Given the description of an element on the screen output the (x, y) to click on. 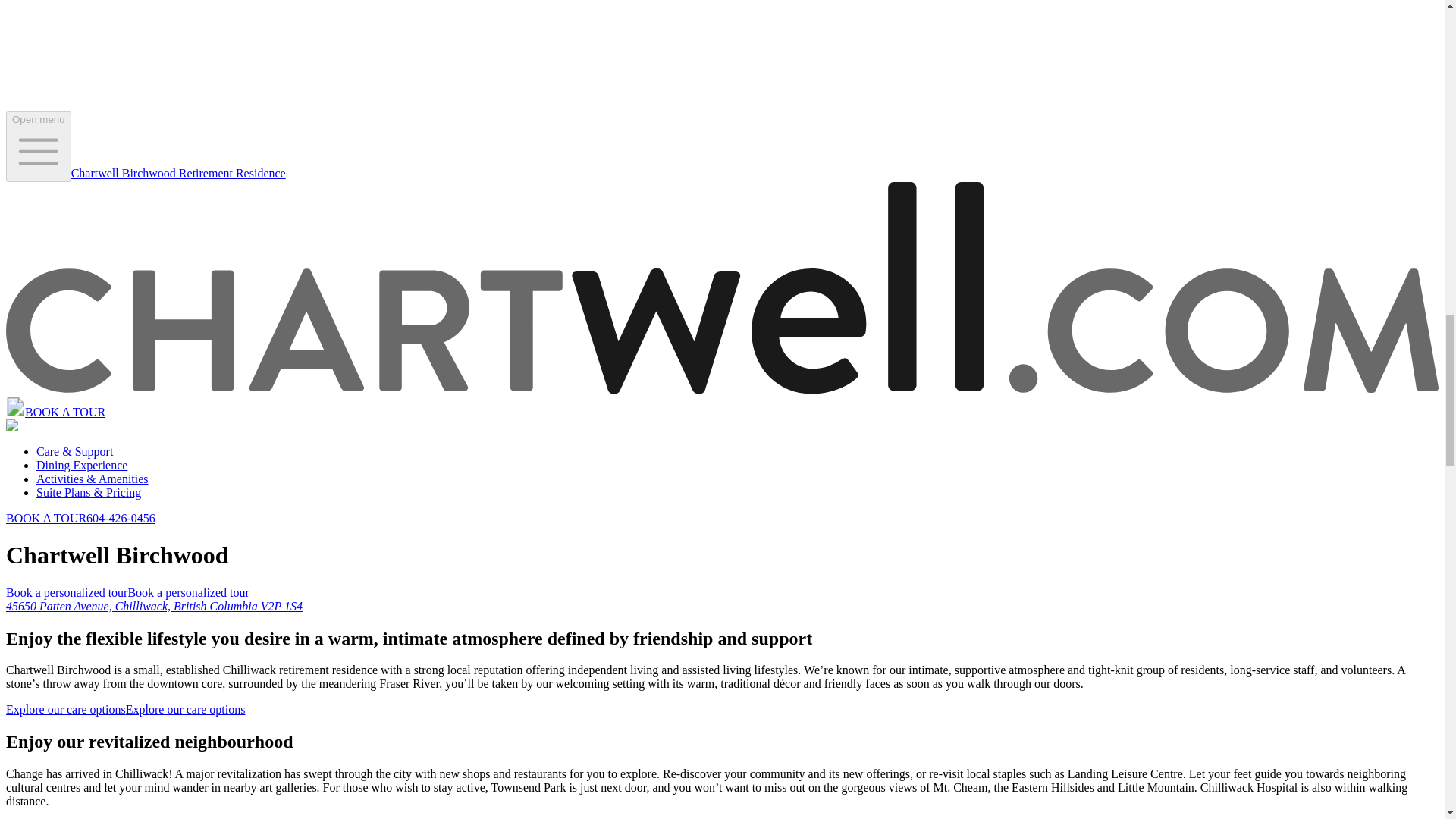
45650 Patten Avenue, Chilliwack, British Columbia V2P 1S4 (153, 605)
Open menu (38, 146)
BOOK A TOUR (45, 517)
Explore our care options (124, 708)
Book a personalized tourBook a personalized tour (126, 592)
Explore our care optionsExplore our care options (124, 708)
604-426-0456 (120, 517)
BOOK A TOUR (64, 411)
Book a personalized tour (126, 592)
Dining Experience (82, 464)
